Given the description of an element on the screen output the (x, y) to click on. 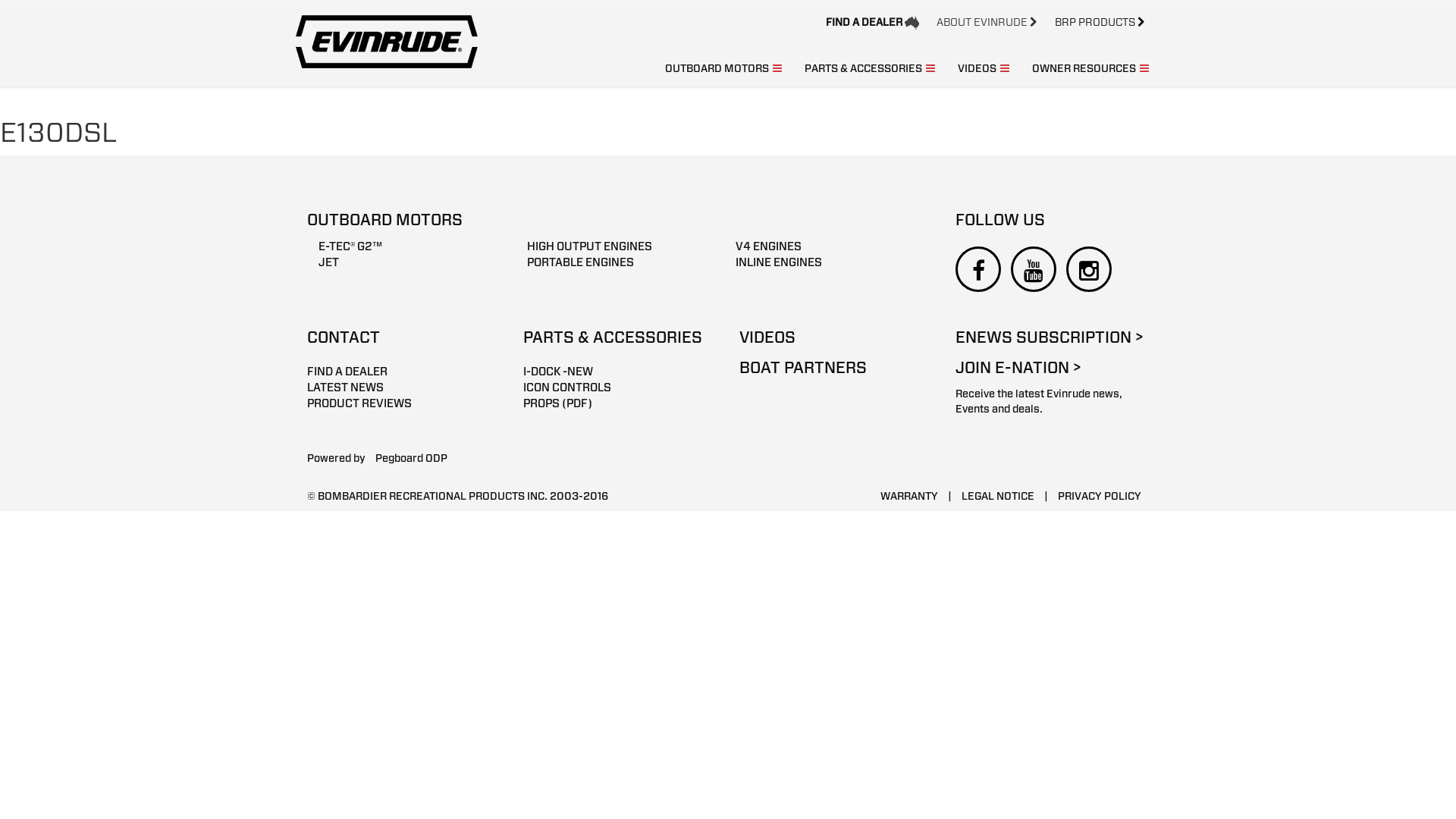
PRIVACY POLICY Element type: text (1099, 495)
ICON CONTROLS Element type: text (619, 387)
PARTS & ACCESSORIES Element type: text (869, 68)
Pegboard ODP Element type: text (411, 457)
JOIN E-NATION > Element type: text (1051, 371)
OUTBOARD MOTORS Element type: text (619, 223)
PROPS (PDF) Element type: text (619, 403)
FIND A DEALER Element type: text (403, 371)
ENEWS SUBSCRIPTION > Element type: text (1051, 341)
LATEST NEWS Element type: text (403, 387)
BRP PRODUCTS Element type: text (1099, 21)
HIGH OUTPUT ENGINES Element type: text (619, 246)
WARRANTY Element type: text (908, 495)
VIDEOS Element type: text (983, 68)
PORTABLE ENGINES Element type: text (619, 262)
I-DOCK -NEW Element type: text (619, 371)
VIDEOS Element type: text (835, 341)
BOAT PARTNERS Element type: text (835, 371)
OWNER RESOURCES Element type: text (1090, 68)
LEGAL NOTICE Element type: text (997, 495)
OUTBOARD MOTORS Element type: text (723, 68)
V4 ENGINES Element type: text (828, 246)
JET Element type: text (411, 262)
FIND A DEALER Element type: text (872, 21)
PRODUCT REVIEWS Element type: text (403, 403)
INLINE ENGINES Element type: text (828, 262)
